Given the description of an element on the screen output the (x, y) to click on. 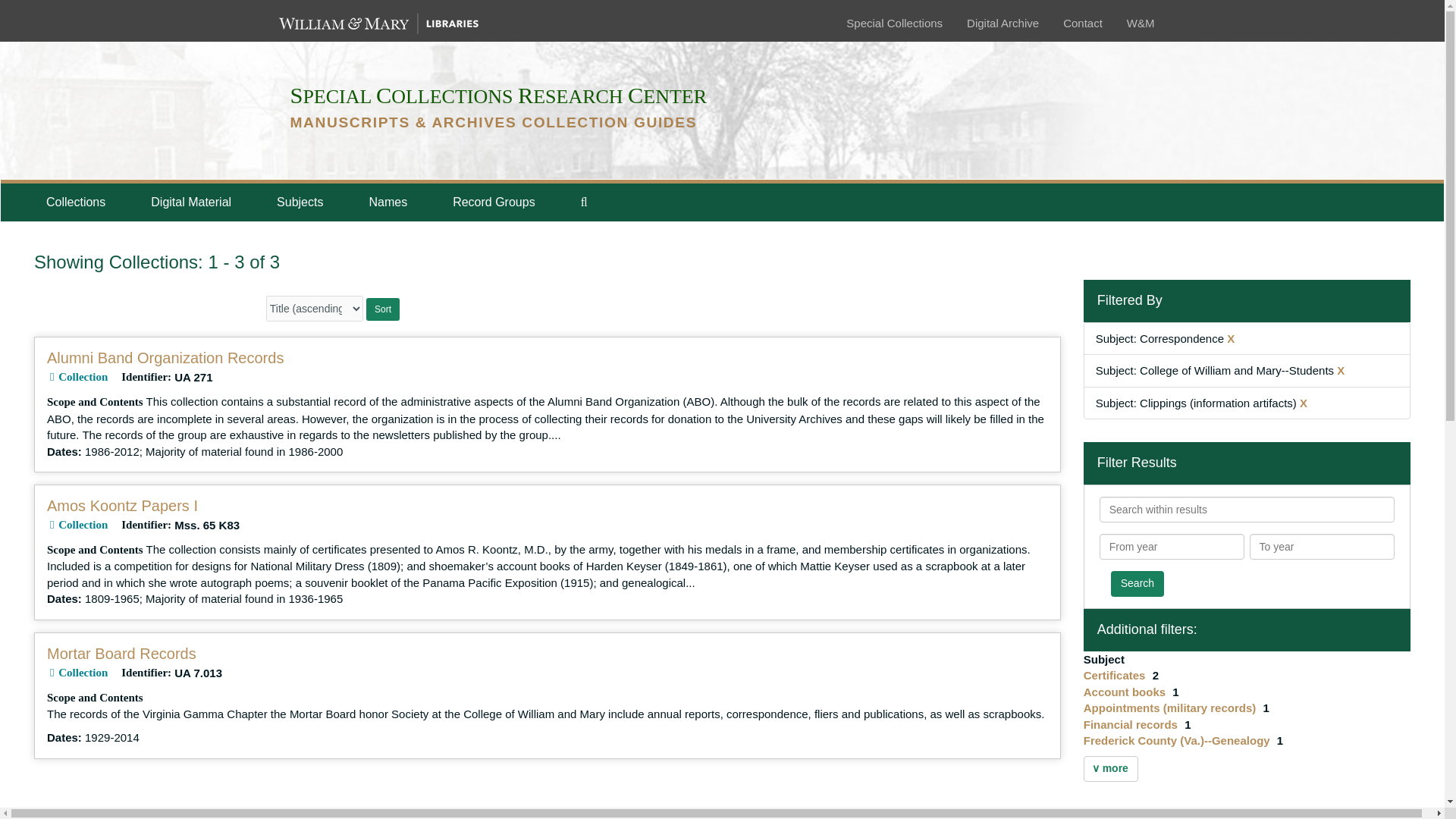
Filter By 'Certificates' (1115, 675)
Sort (382, 309)
Search The Archives (583, 202)
Mortar Board Records (121, 653)
Certificates (1115, 675)
Collections (75, 202)
Special Collections (893, 23)
Alumni Band Organization Records (164, 357)
Search The Archives (583, 202)
Contact (1082, 23)
Amos Koontz Papers I (122, 505)
Sort (382, 309)
Account books (1126, 691)
Filter By 'Account books' (1126, 691)
Digital Material (190, 202)
